Given the description of an element on the screen output the (x, y) to click on. 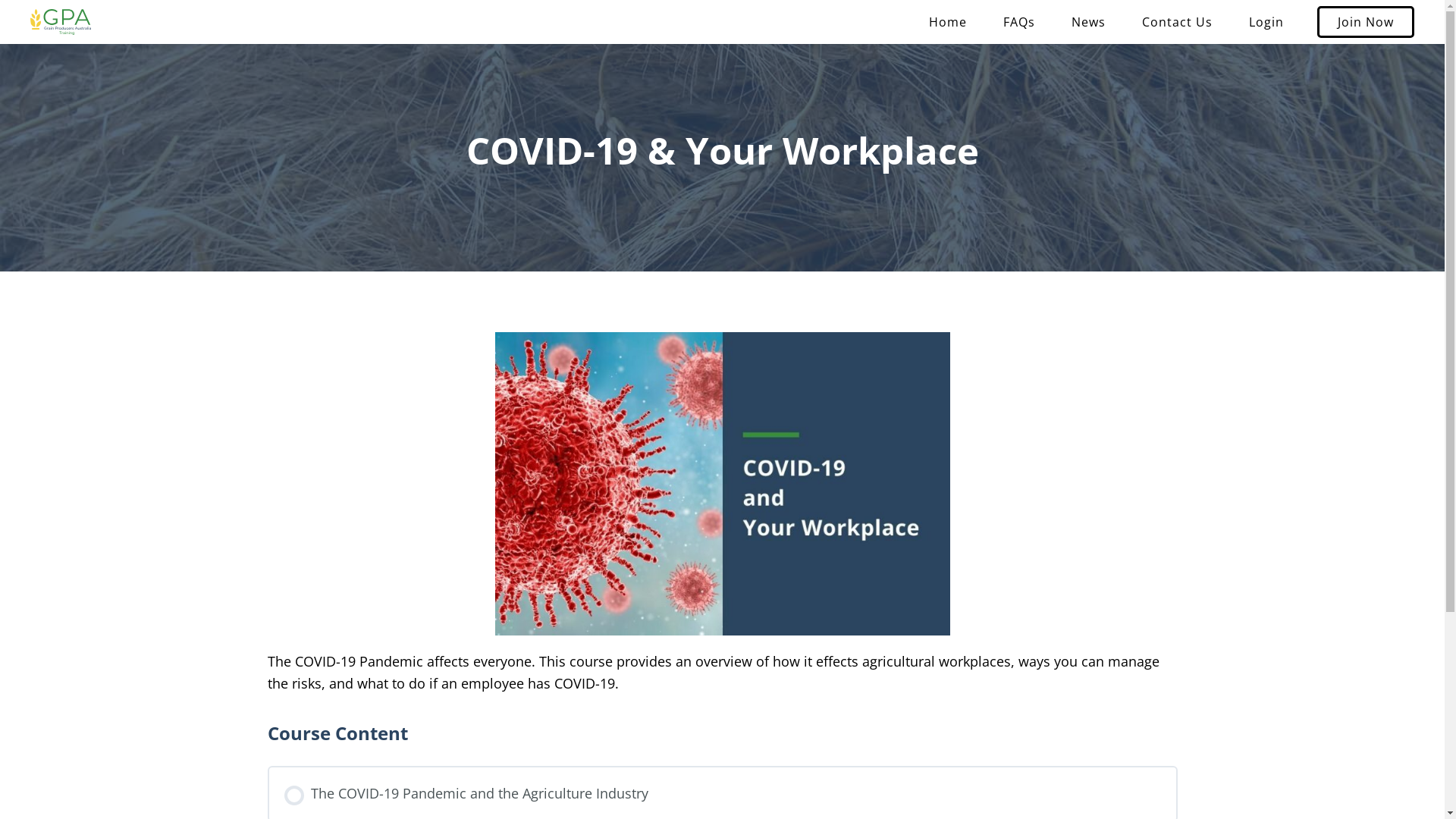
Contact Us Element type: text (1176, 21)
Login Element type: text (1266, 21)
News Element type: text (1088, 21)
Home Element type: text (947, 21)
Join Now Element type: text (1365, 21)
FAQs Element type: text (1019, 21)
The COVID-19 Pandemic and the Agriculture Industry Element type: text (721, 794)
